Given the description of an element on the screen output the (x, y) to click on. 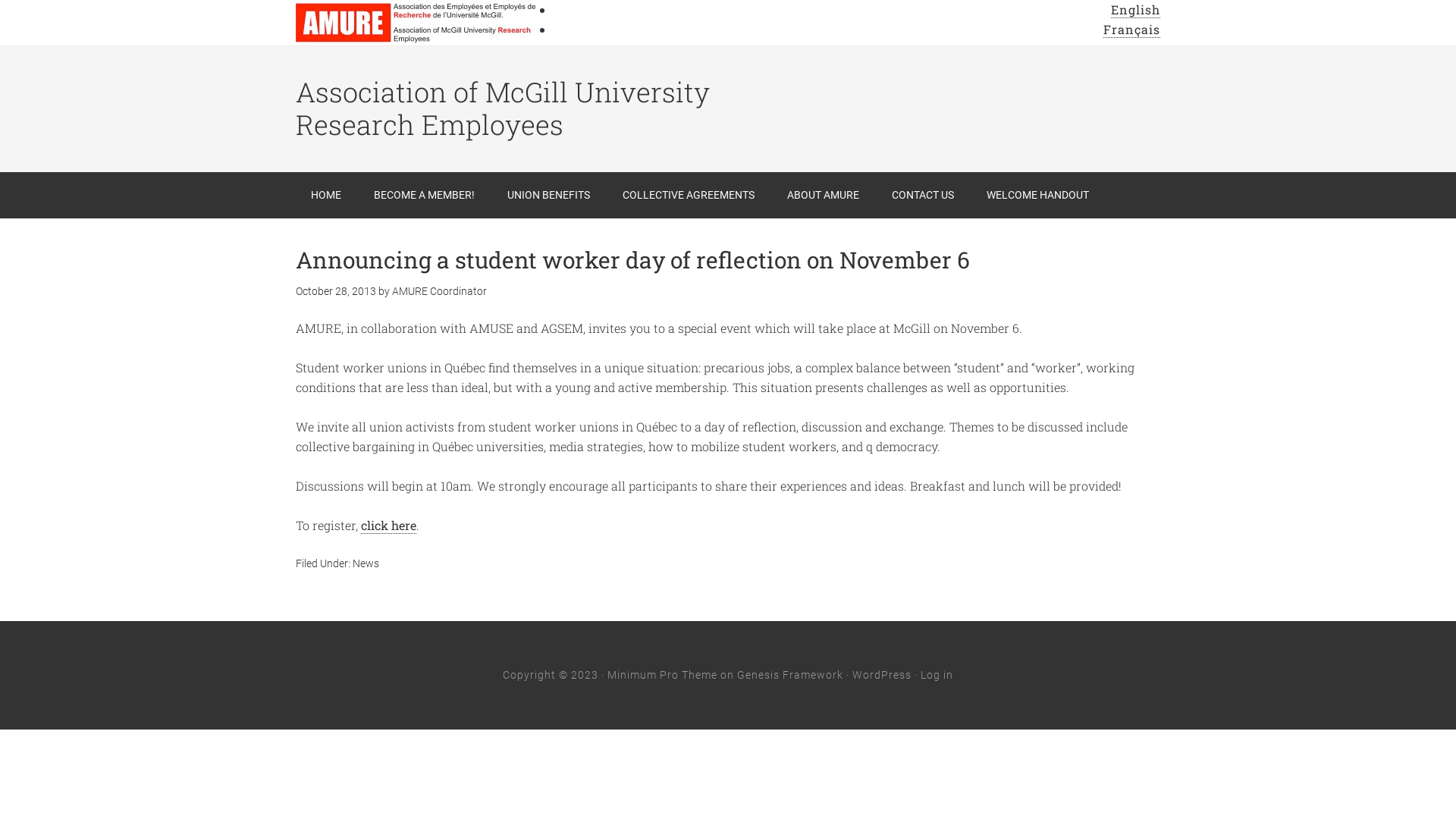
WELCOME HANDOUT Element type: text (1037, 195)
HOME Element type: text (325, 195)
News Element type: text (365, 563)
COLLECTIVE AGREEMENTS Element type: text (688, 195)
Log in Element type: text (936, 674)
AMURE Element type: text (416, 22)
WordPress Element type: text (881, 674)
AMURE Coordinator Element type: text (439, 291)
English Element type: text (1135, 9)
CONTACT US Element type: text (922, 195)
Genesis Framework Element type: text (790, 674)
UNION BENEFITS Element type: text (548, 195)
Minimum Pro Theme Element type: text (662, 674)
BECOME A MEMBER! Element type: text (423, 195)
click here Element type: text (388, 525)
ABOUT AMURE Element type: text (822, 195)
